Given the description of an element on the screen output the (x, y) to click on. 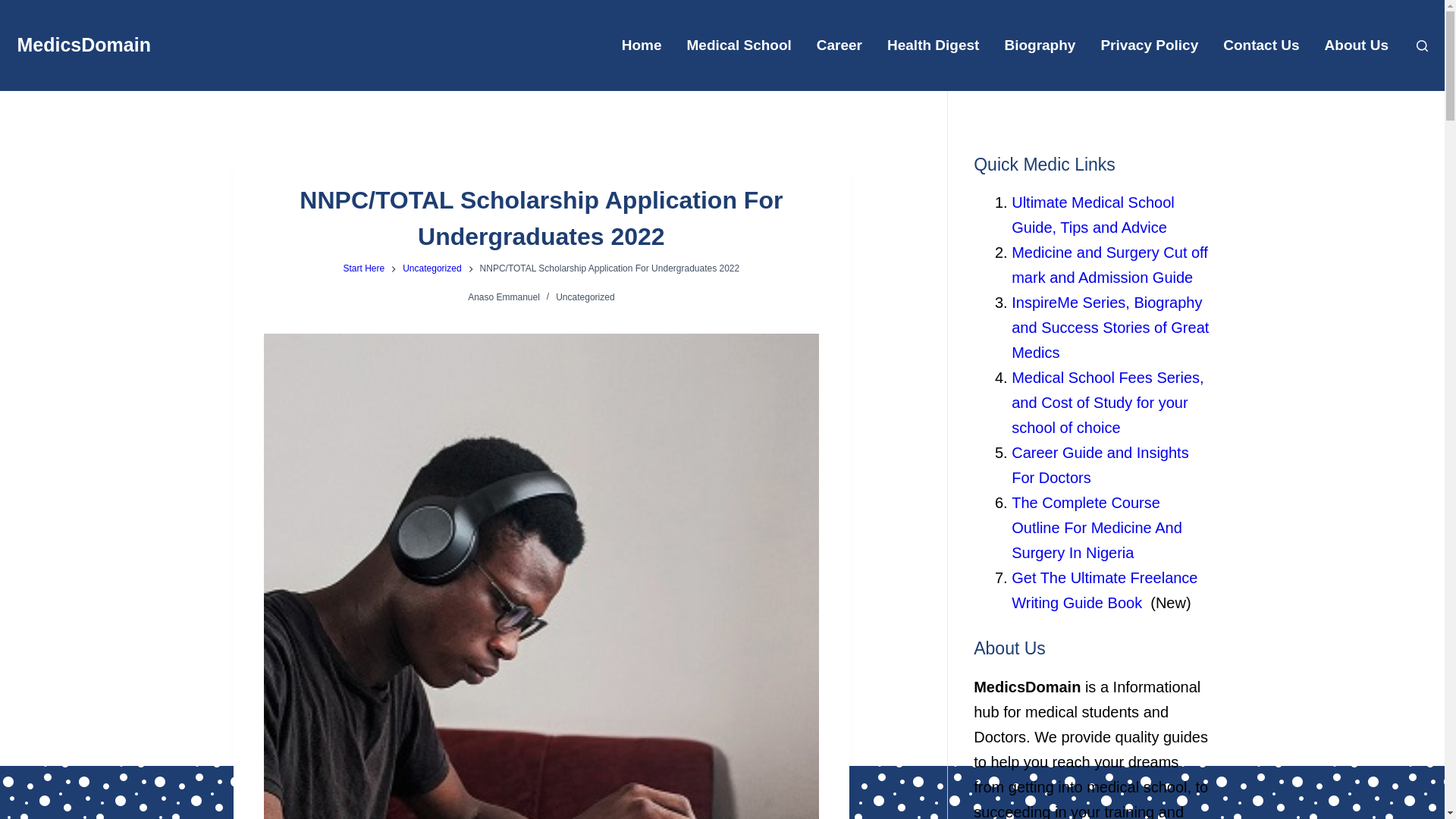
Uncategorized (585, 296)
About Us (1355, 45)
Posts by Anaso Emmanuel (503, 296)
Medical School (738, 45)
MedicsDomain (82, 44)
Skip to content (15, 7)
Anaso Emmanuel (503, 296)
Privacy Policy (1149, 45)
Uncategorized (432, 268)
Biography (1039, 45)
